Given the description of an element on the screen output the (x, y) to click on. 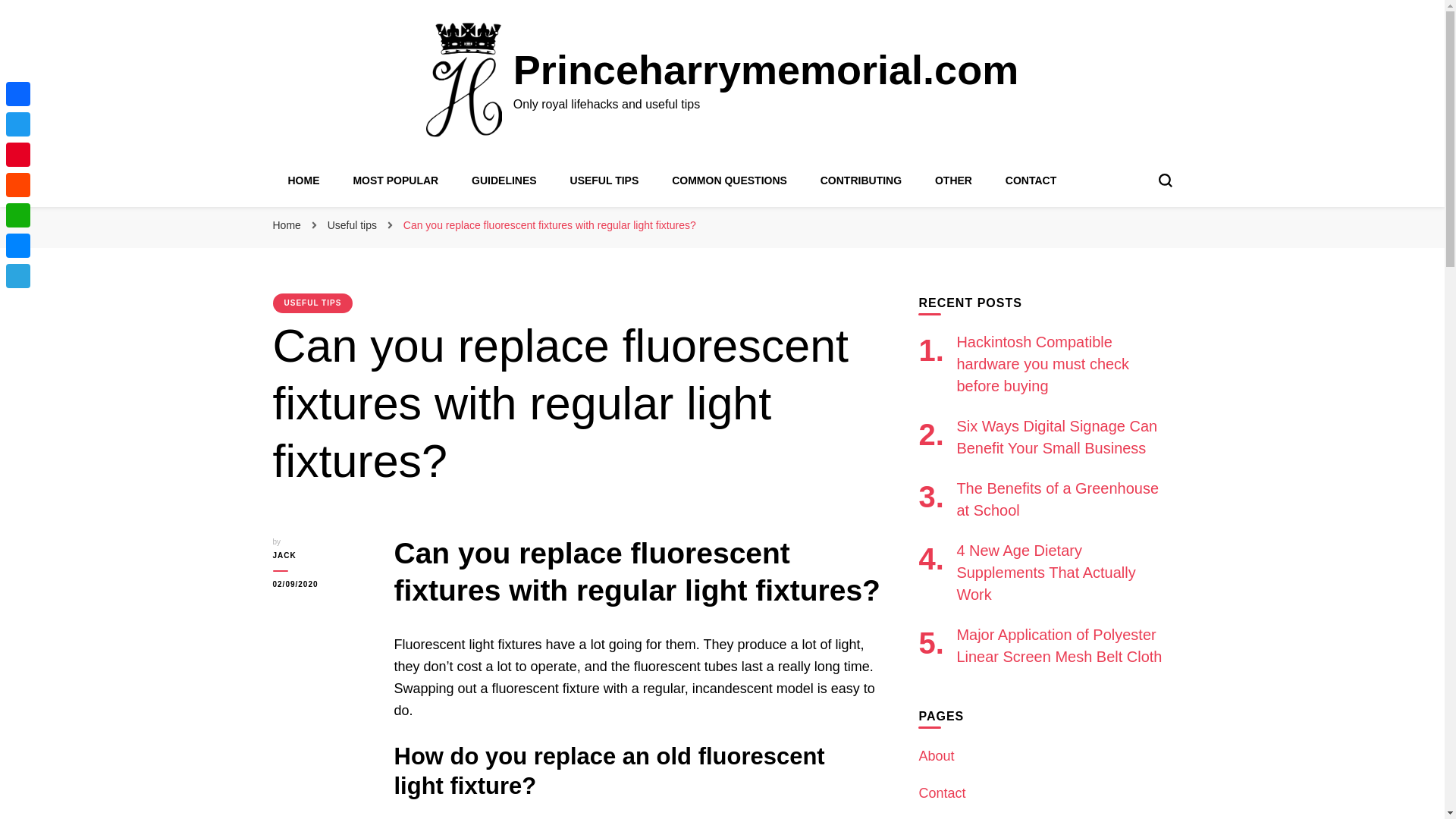
CONTRIBUTING (861, 180)
Messenger (17, 245)
MOST POPULAR (395, 180)
Reddit (17, 184)
Facebook (17, 93)
Telegram (17, 276)
HOME (304, 180)
WhatsApp (17, 214)
Princeharrymemorial.com (765, 69)
